Given the description of an element on the screen output the (x, y) to click on. 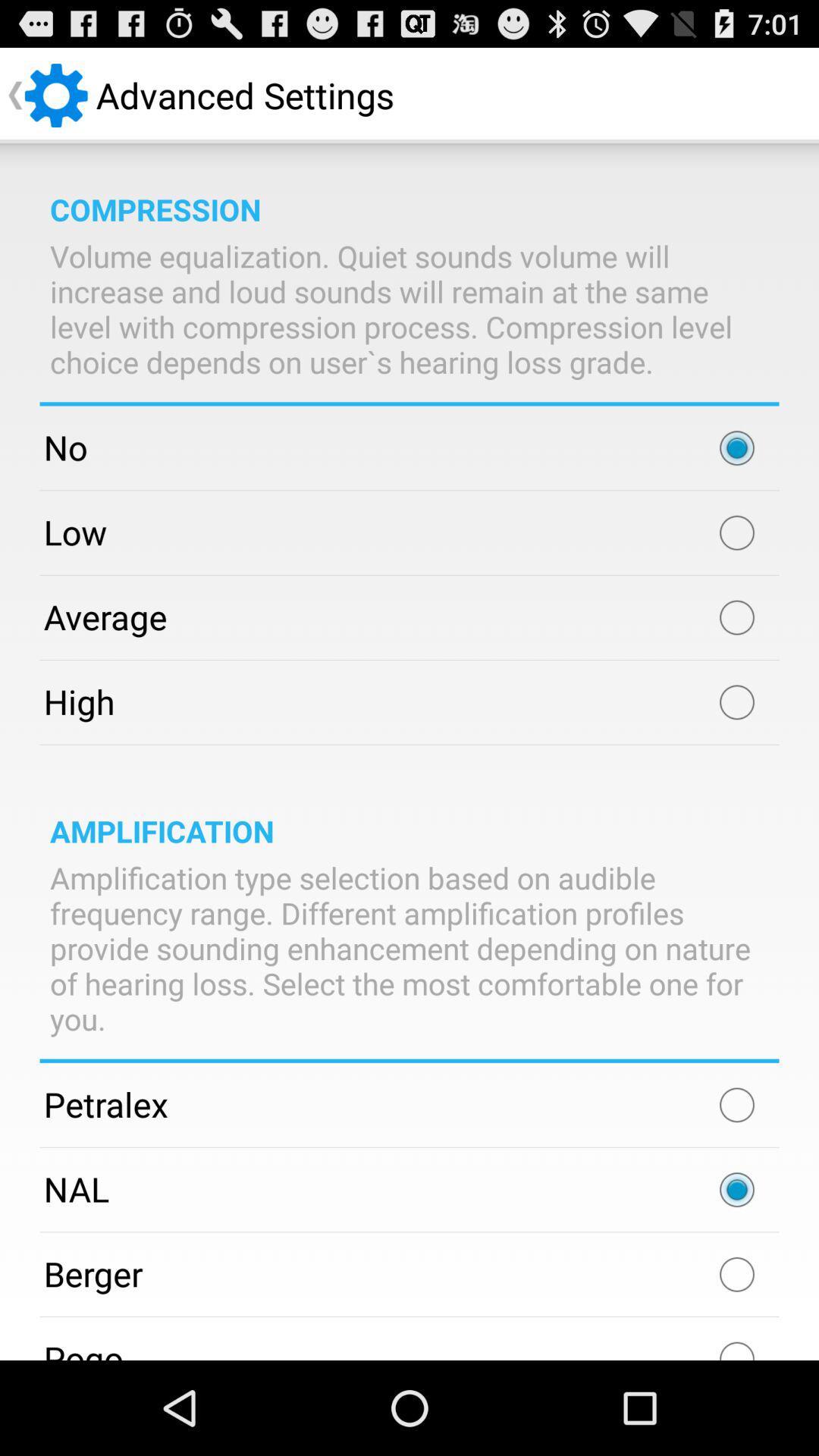
to turn on this option (736, 1104)
